Given the description of an element on the screen output the (x, y) to click on. 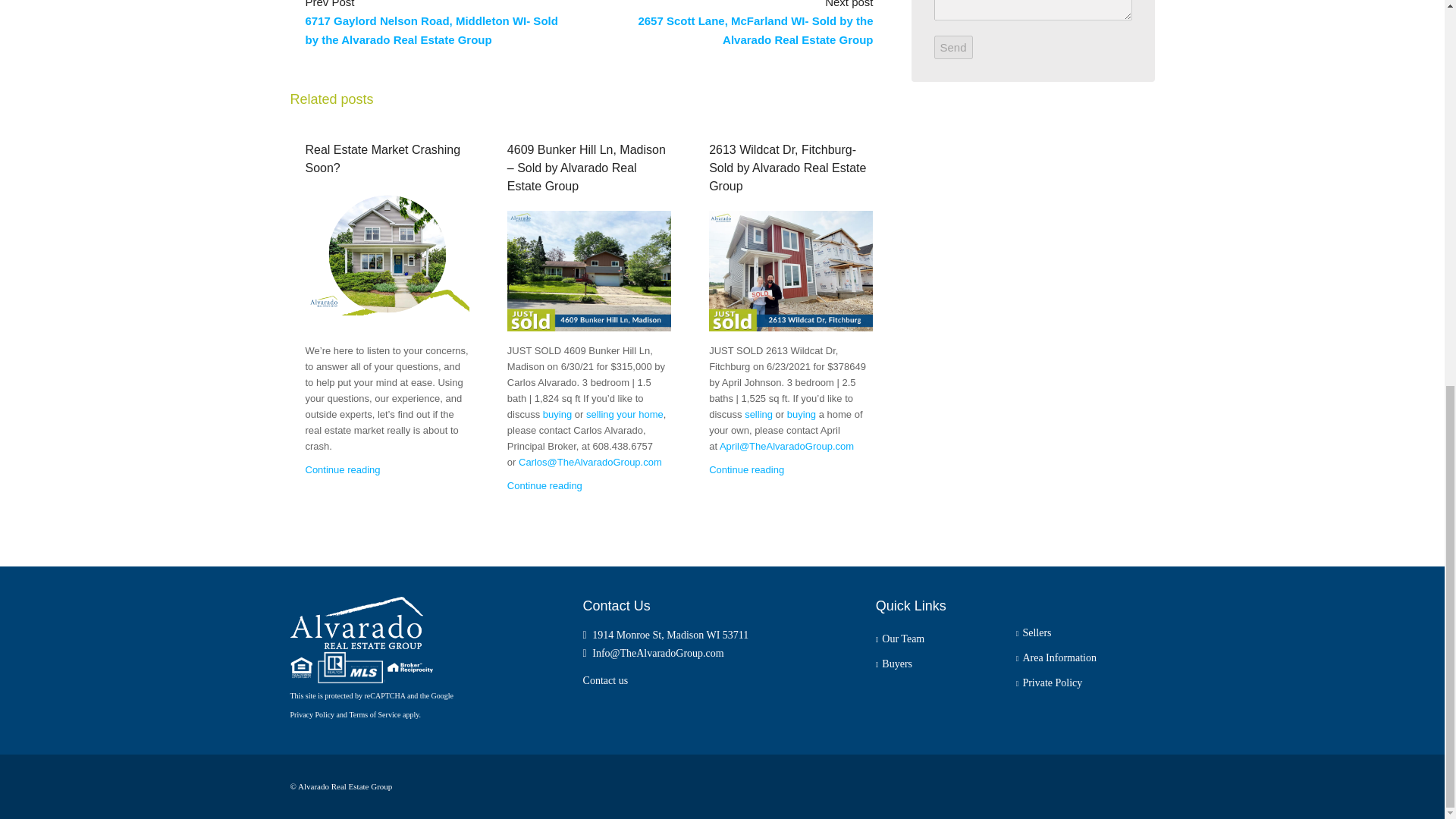
Send (953, 47)
